Given the description of an element on the screen output the (x, y) to click on. 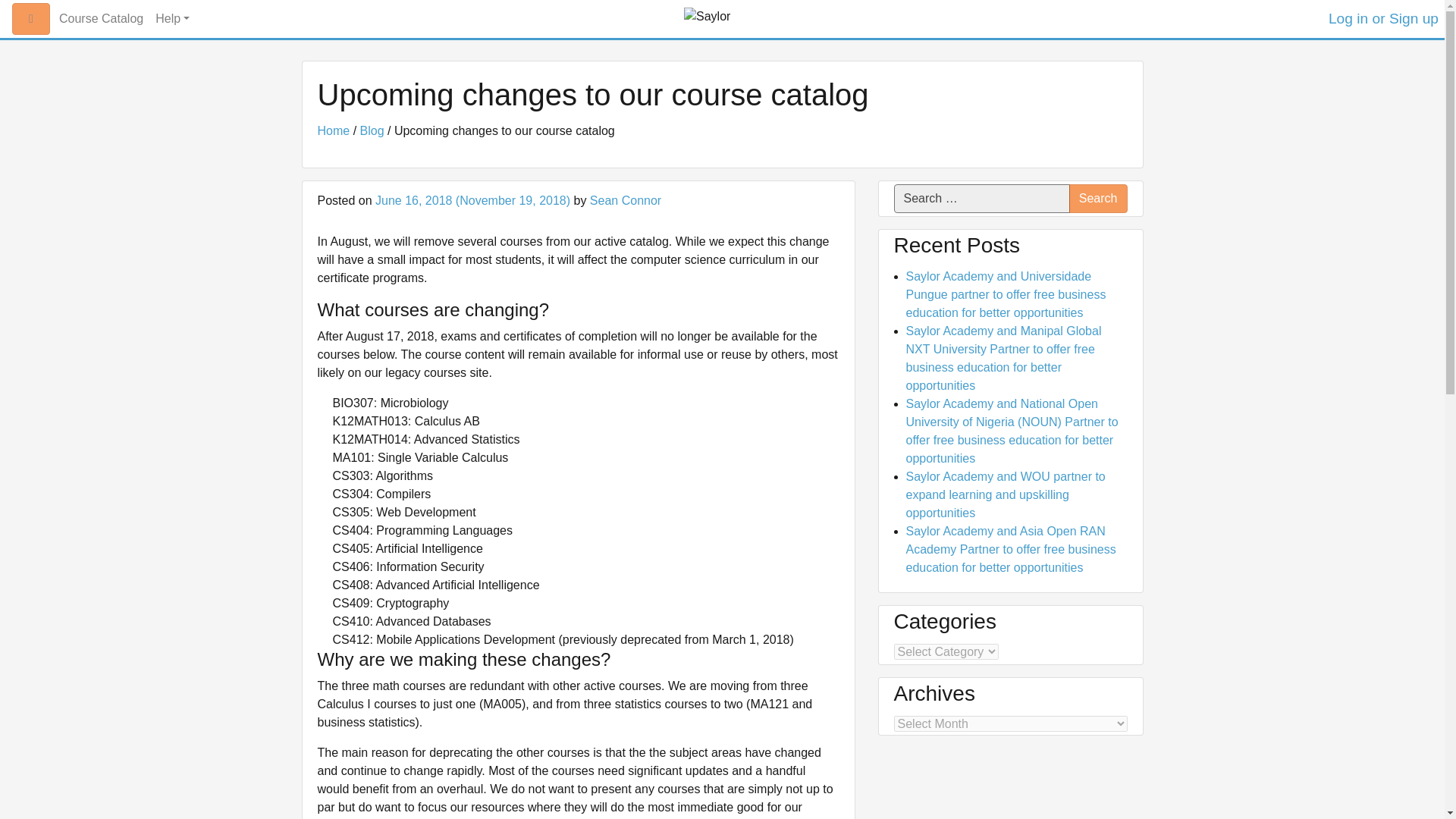
Log in or Sign up (1382, 18)
Course Catalog (100, 19)
Home (333, 130)
Sean Connor (625, 200)
Help (172, 19)
Blog (371, 130)
Saylor (757, 24)
Course Catalog (100, 19)
Search (1097, 198)
Search (1097, 198)
Help (172, 19)
Search (1097, 198)
